Given the description of an element on the screen output the (x, y) to click on. 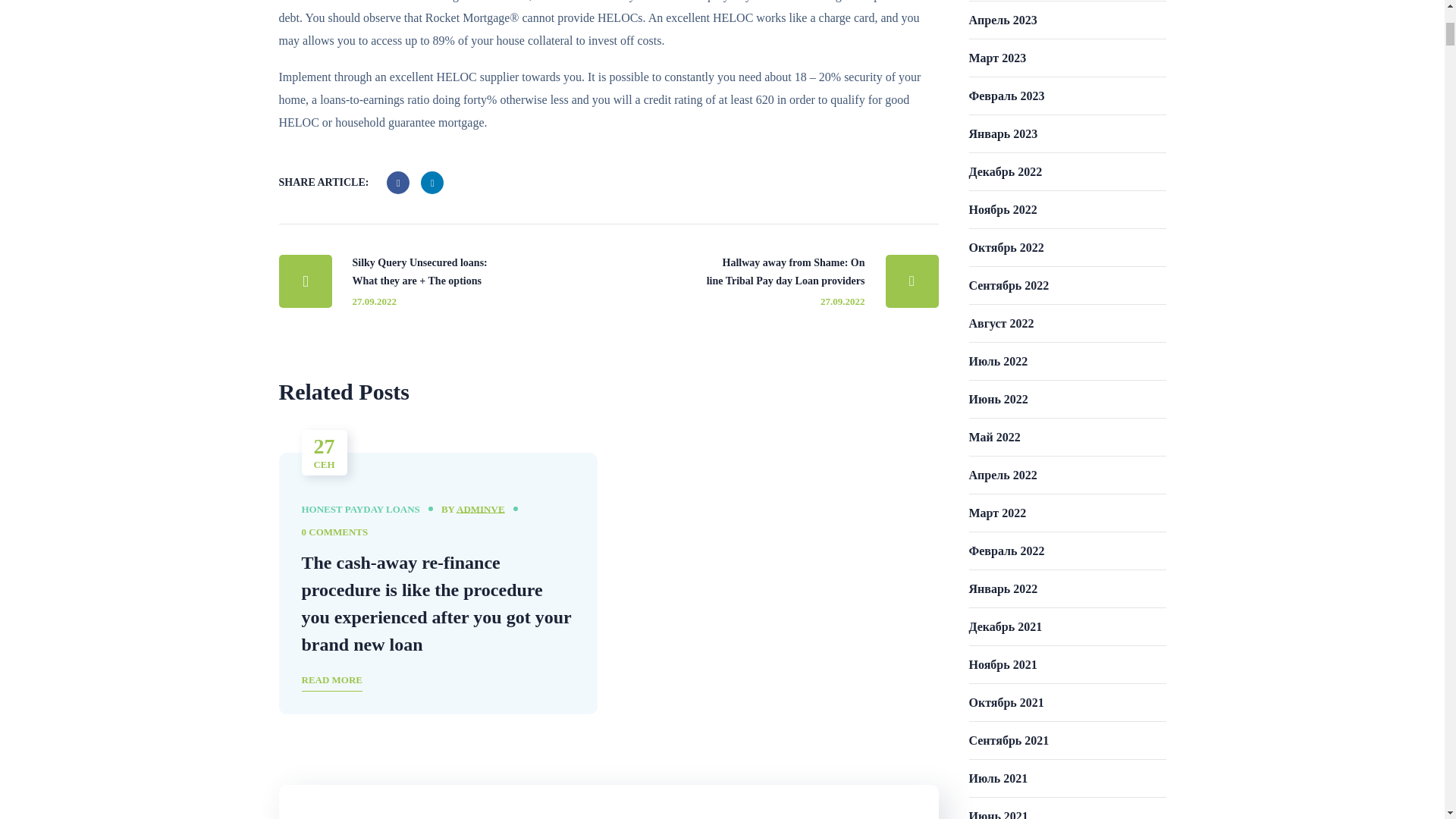
READ MORE (331, 680)
0 COMMENTS (334, 531)
ADMINVE (481, 509)
HONEST PAYDAY LOANS (360, 509)
Leave a reply (334, 531)
